Given the description of an element on the screen output the (x, y) to click on. 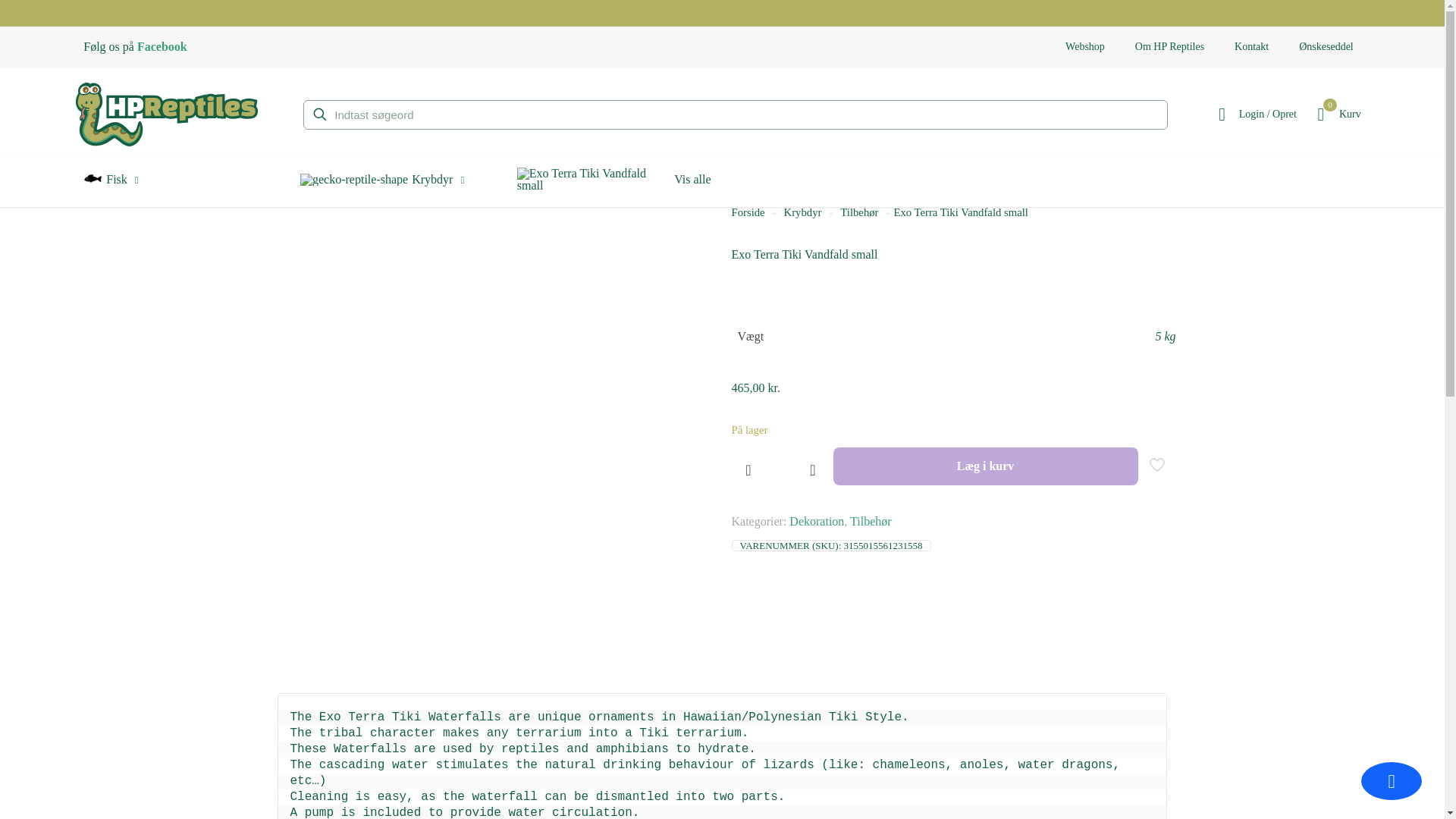
Krybdyr (381, 183)
Om HP Reptiles (1169, 46)
Forside (1336, 114)
Webshop (747, 212)
Vis alle (1084, 46)
Fisk (614, 183)
Krybdyr (110, 182)
Facebook (803, 212)
Kontakt (161, 46)
